Given the description of an element on the screen output the (x, y) to click on. 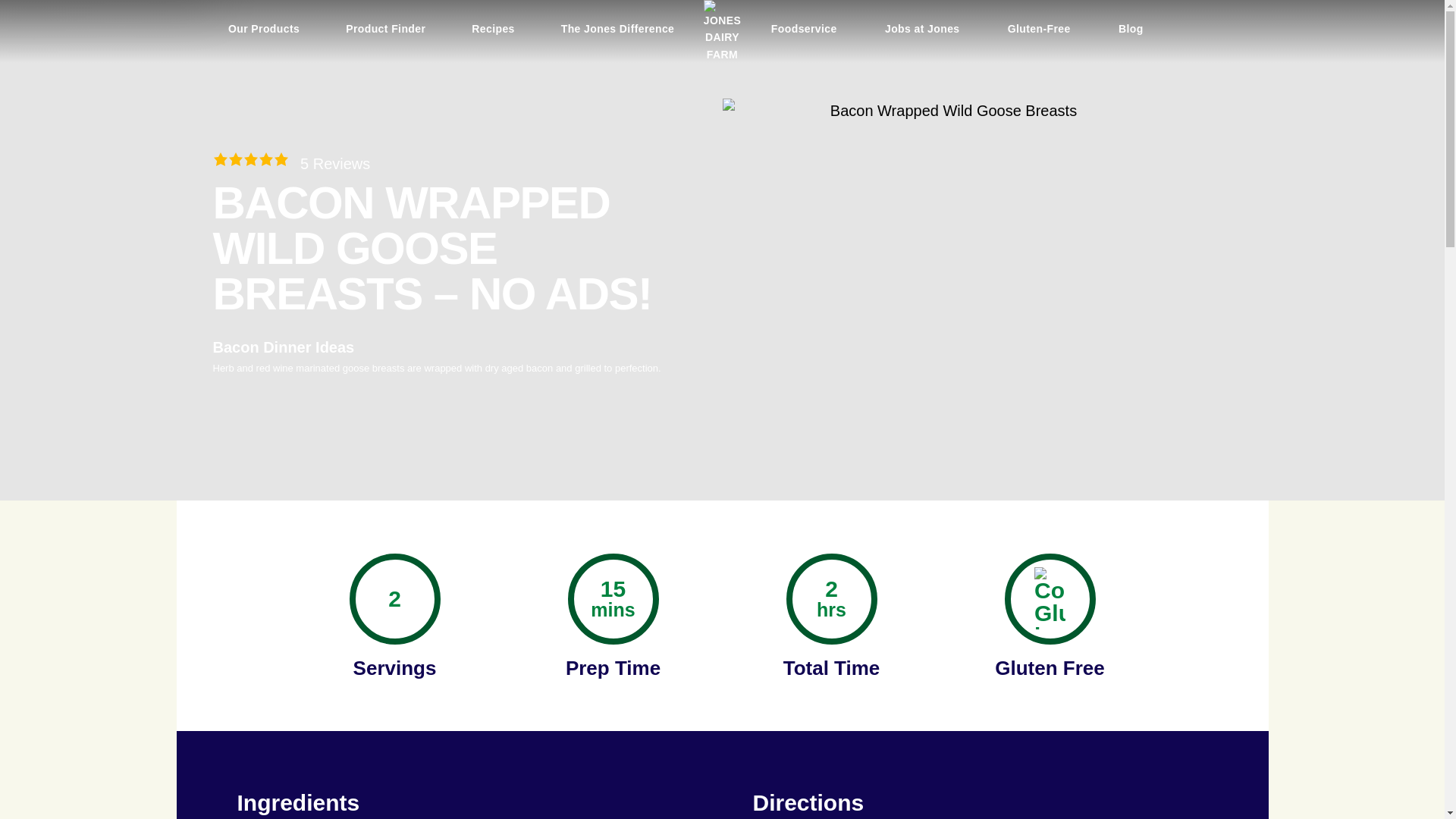
Jobs at Jones (922, 26)
Our Products (263, 26)
Recipes (493, 26)
The Jones Difference (617, 26)
Product Finder (385, 26)
Gluten-Free (1039, 26)
Foodservice (804, 26)
